Given the description of an element on the screen output the (x, y) to click on. 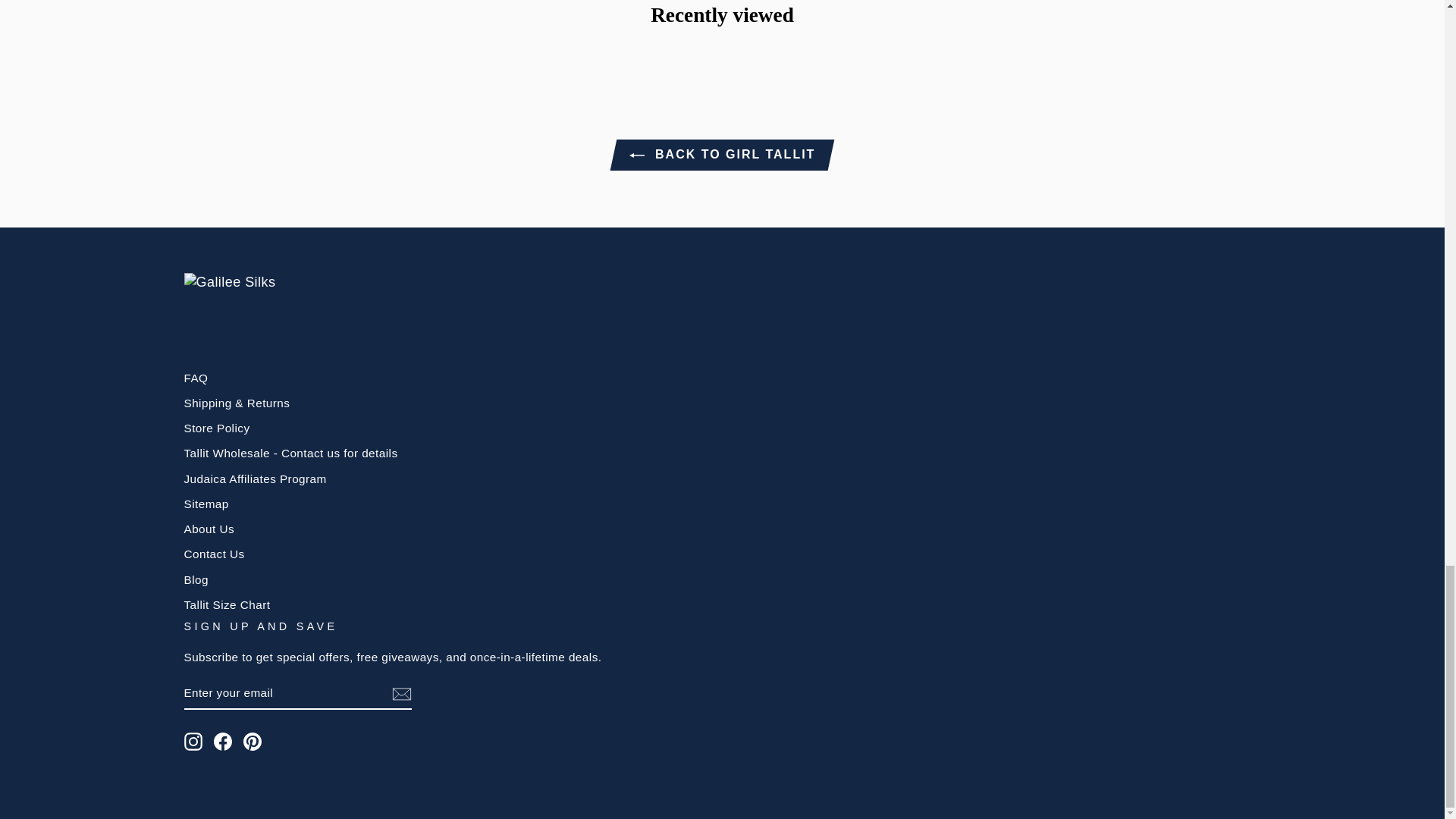
Galilee Silks on Instagram (192, 741)
Galilee Silks on Facebook (222, 741)
Galilee Silks on Pinterest (251, 741)
